Given the description of an element on the screen output the (x, y) to click on. 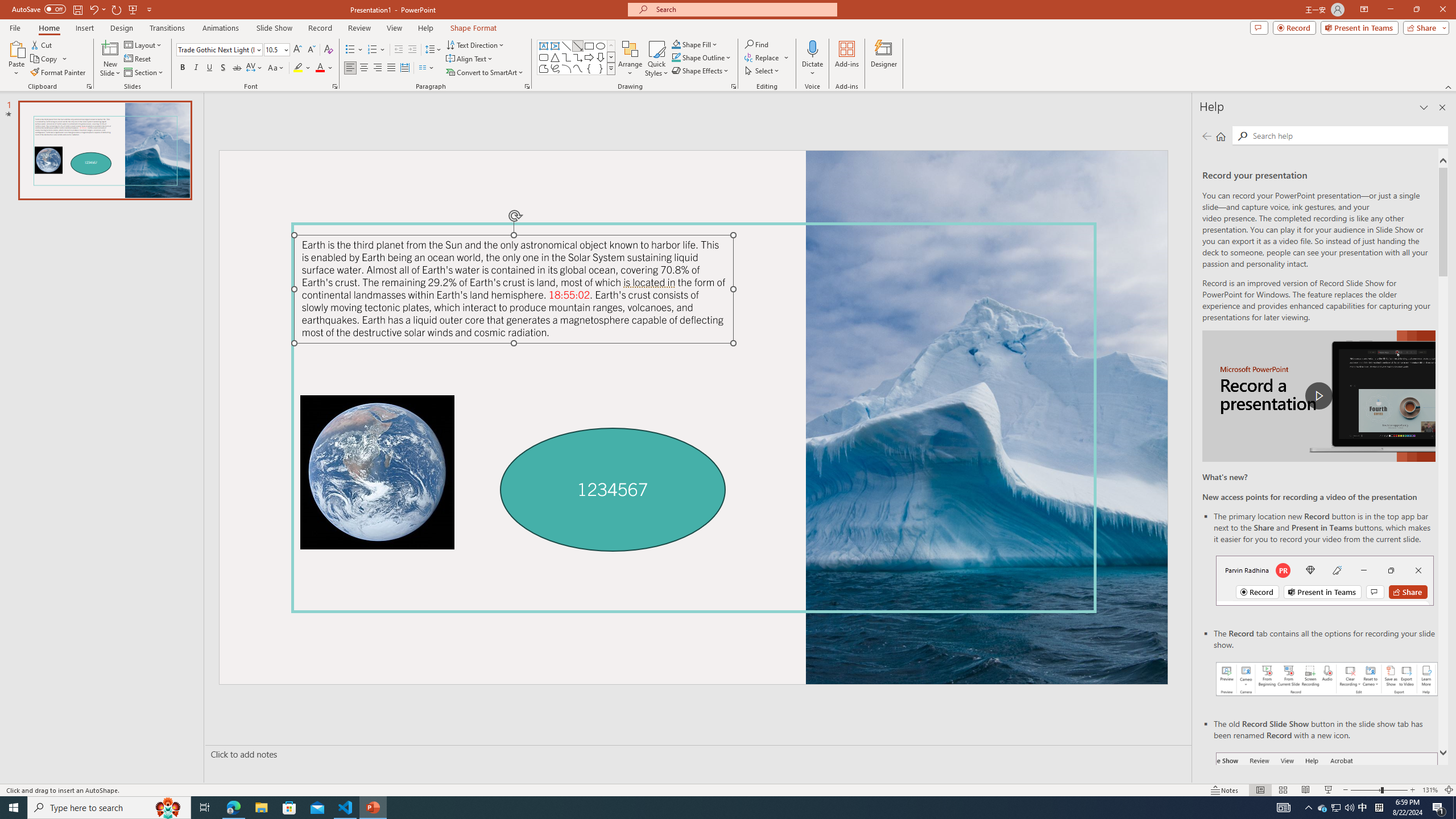
Record your presentations screenshot one (1326, 678)
